Given the description of an element on the screen output the (x, y) to click on. 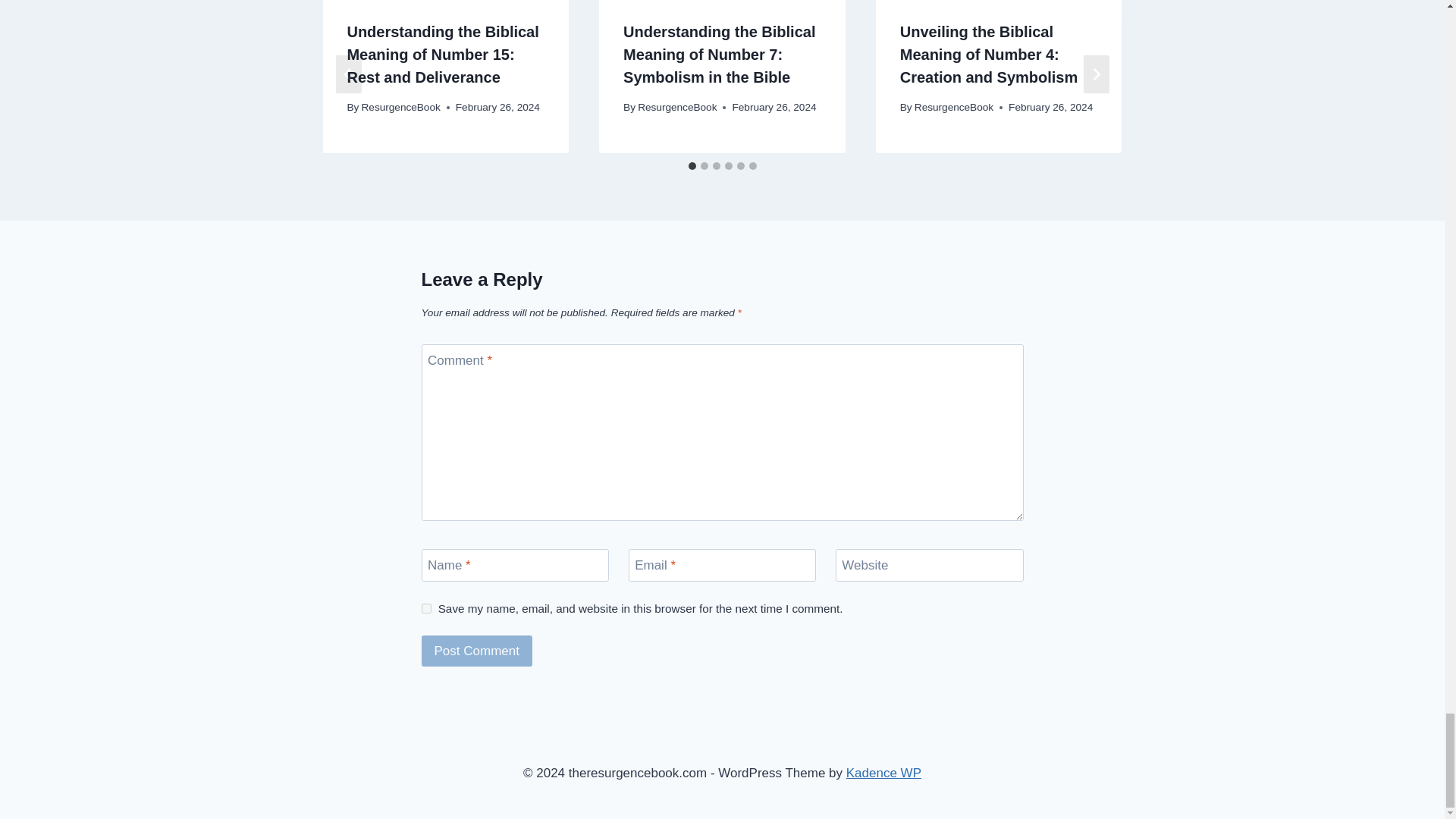
Post Comment (477, 650)
ResurgenceBook (401, 107)
yes (426, 608)
